Given the description of an element on the screen output the (x, y) to click on. 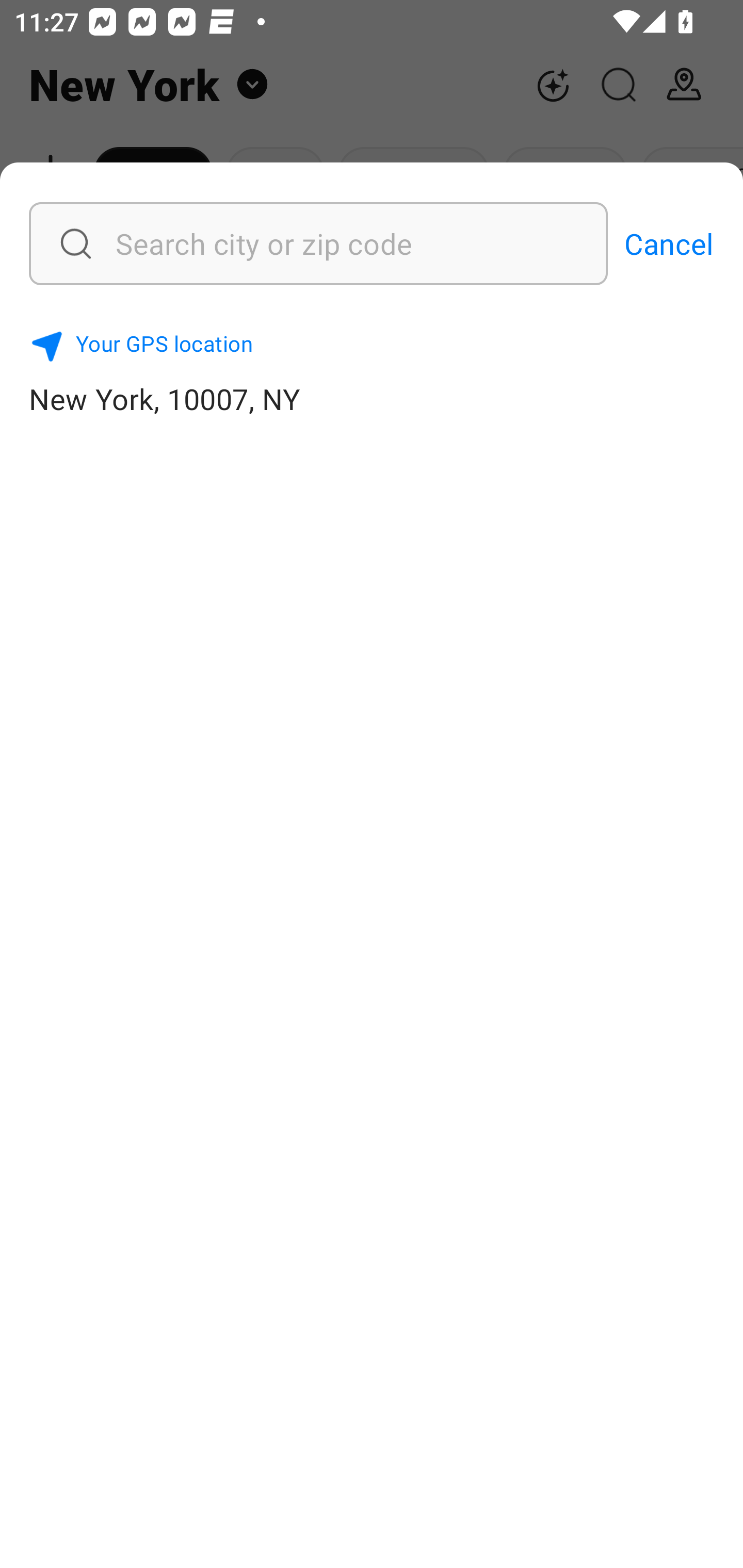
Search city or zip code (267, 243)
Cancel (669, 243)
Your GPS location New York, 10007, NY (371, 370)
